Given the description of an element on the screen output the (x, y) to click on. 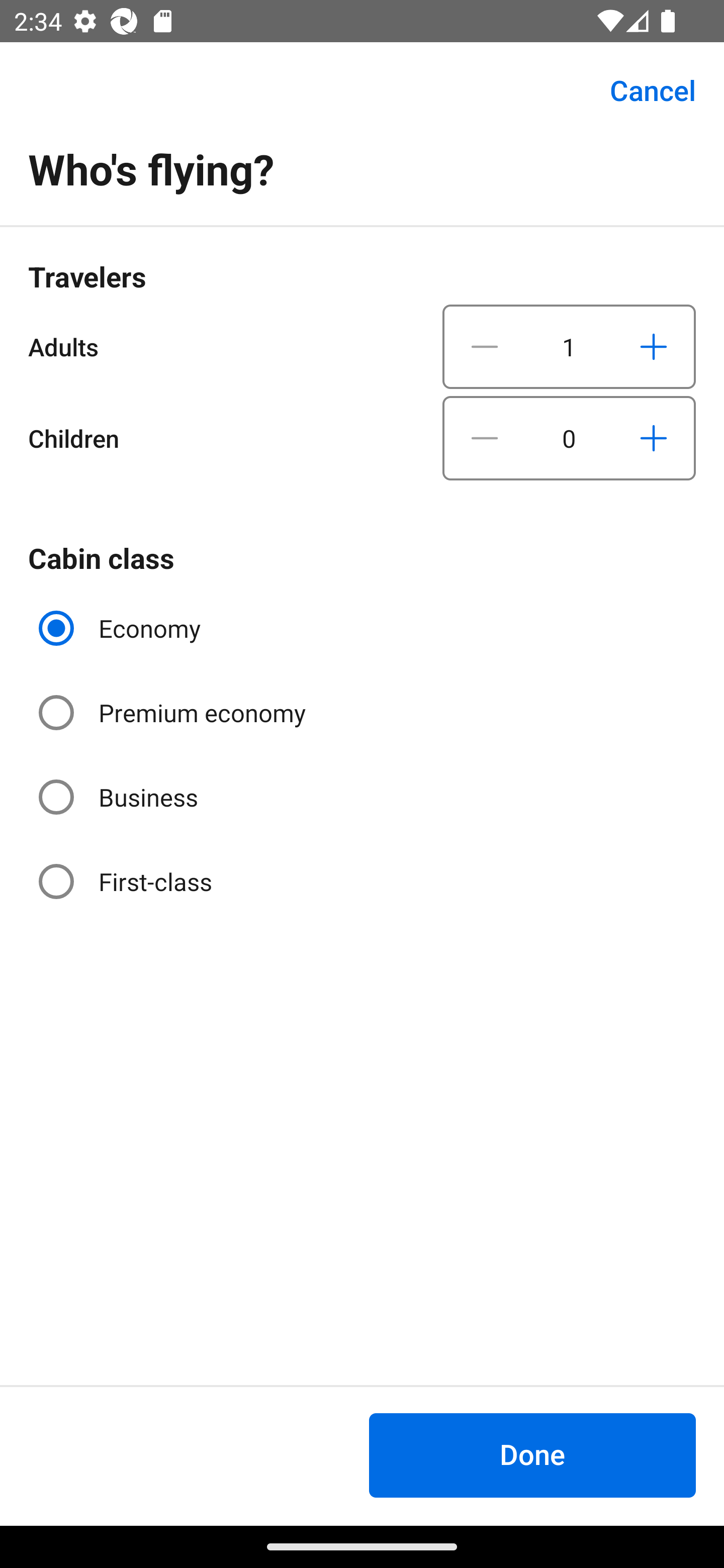
Cancel (641, 90)
Decrease (484, 346)
Increase (653, 346)
Decrease (484, 437)
Increase (653, 437)
Economy (121, 628)
Premium economy (174, 712)
Business (120, 796)
First-class (126, 880)
Done (532, 1454)
